Given the description of an element on the screen output the (x, y) to click on. 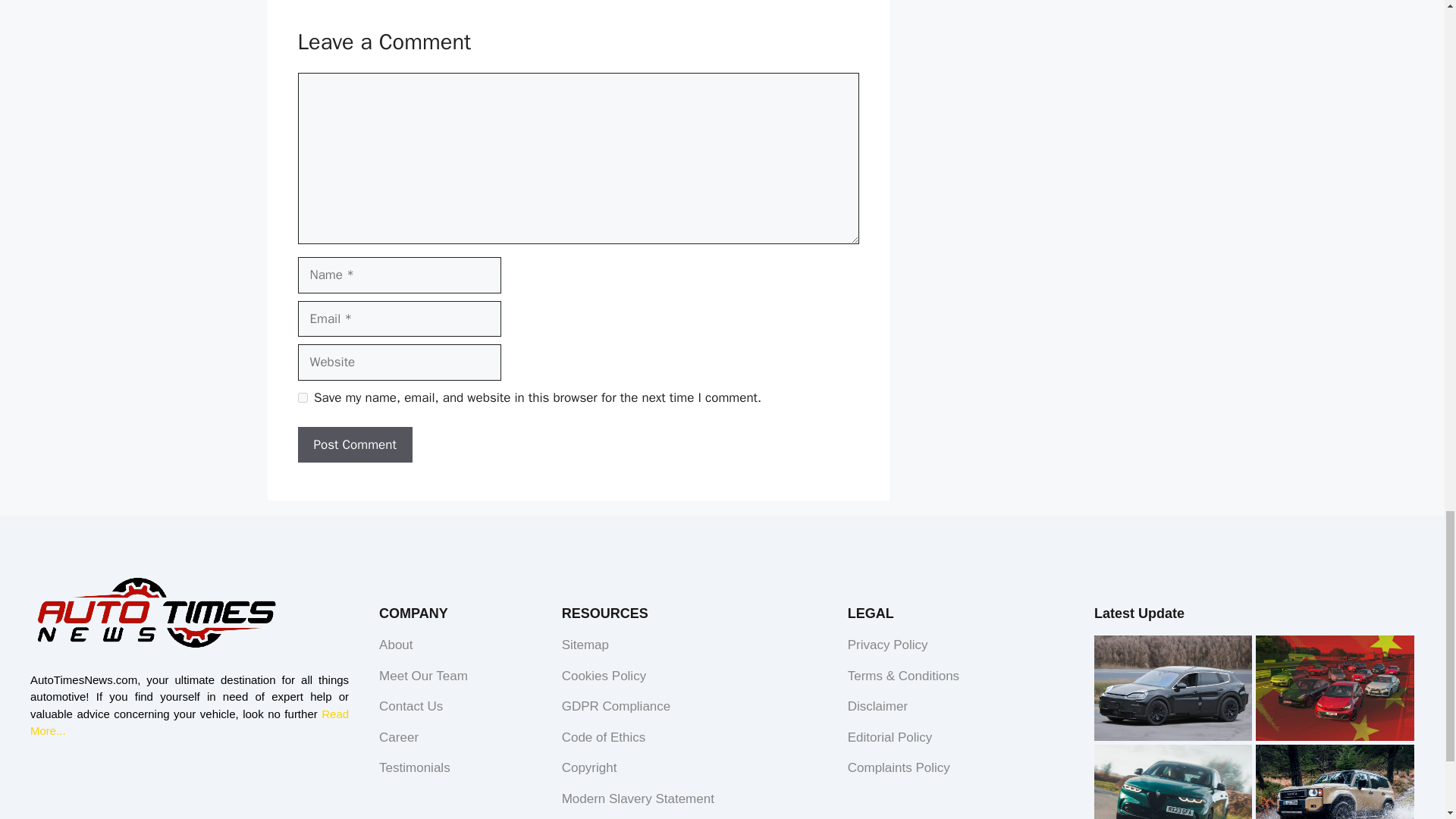
Post Comment (354, 444)
yes (302, 397)
